Given the description of an element on the screen output the (x, y) to click on. 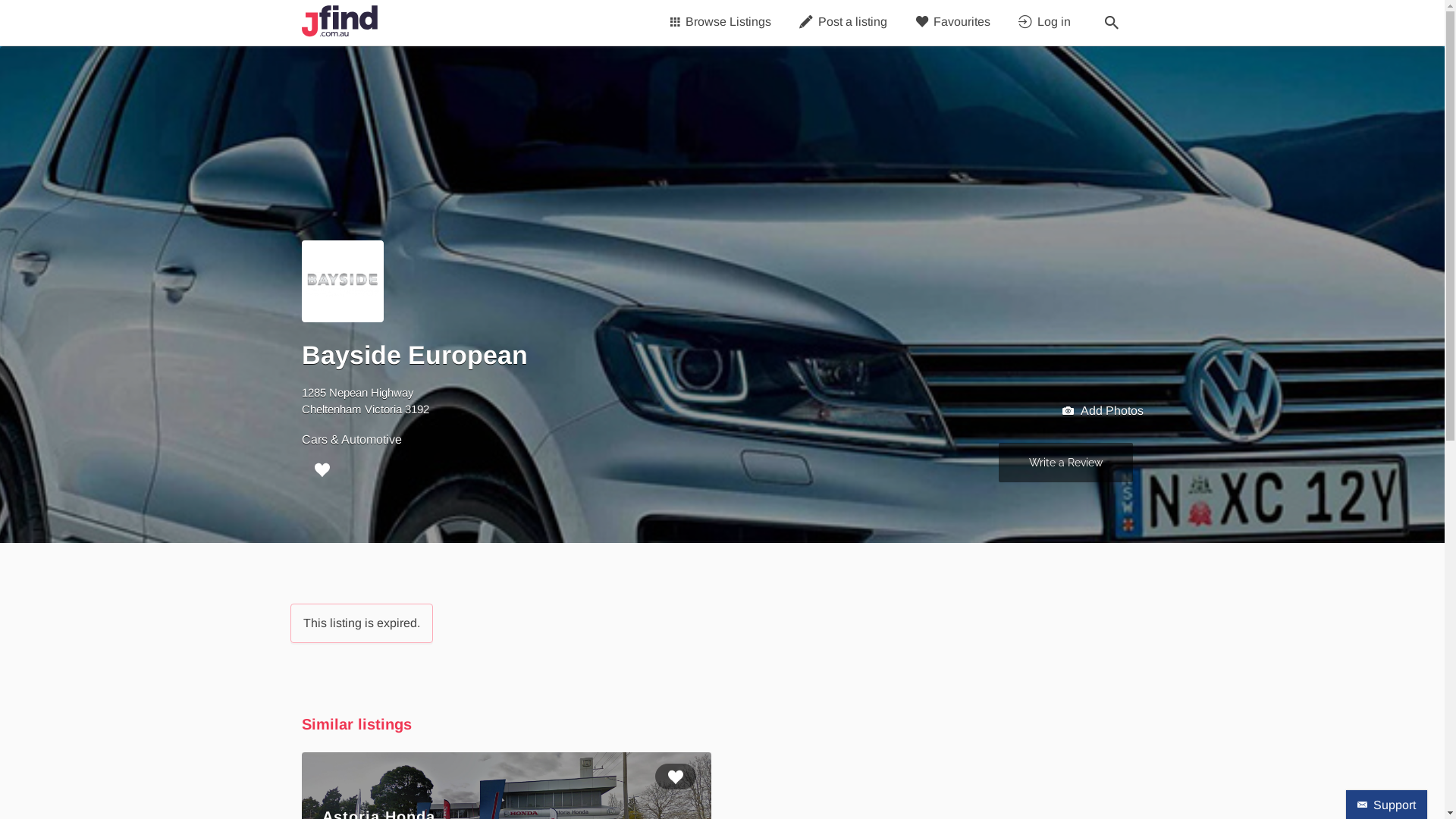
Write a Review Element type: text (1064, 462)
Post a listing Element type: text (846, 21)
Cars & Automotive Element type: text (351, 438)
Add Photos Element type: text (1101, 410)
Log in Element type: text (1048, 21)
Browse Listings Element type: text (722, 21)
Favourites Element type: text (955, 21)
1285 Nepean Highway
Cheltenham Victoria 3192 Element type: text (365, 400)
